Given the description of an element on the screen output the (x, y) to click on. 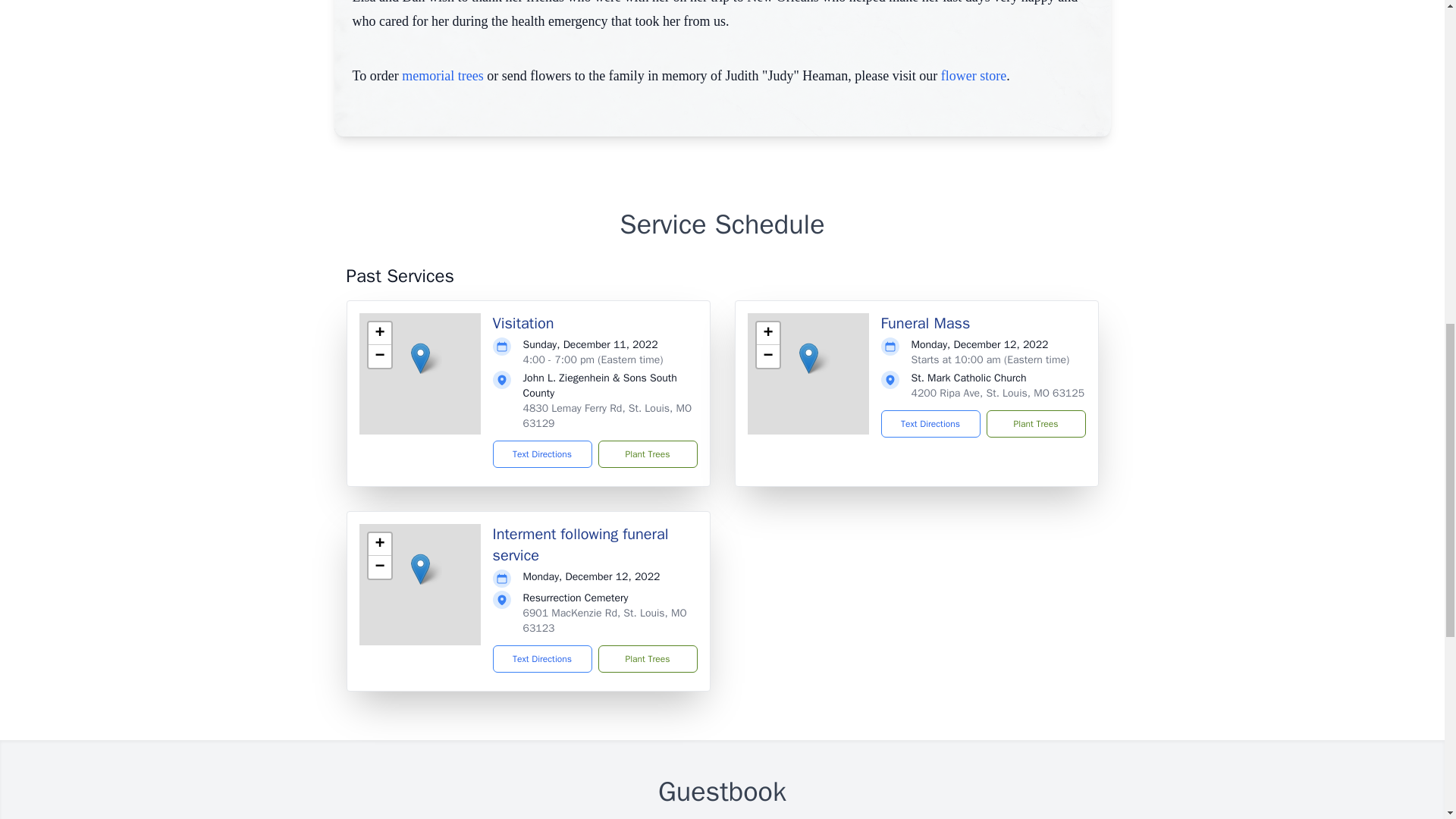
Zoom in (767, 333)
Text Directions (542, 658)
memorial trees (442, 75)
Plant Trees (646, 453)
flower store (973, 75)
Plant Trees (1034, 423)
Zoom out (379, 355)
Text Directions (542, 453)
Plant Trees (646, 658)
Zoom out (767, 355)
Zoom out (379, 567)
Zoom in (379, 544)
Text Directions (929, 423)
4200 Ripa Ave, St. Louis, MO 63125 (997, 392)
Zoom in (379, 333)
